Given the description of an element on the screen output the (x, y) to click on. 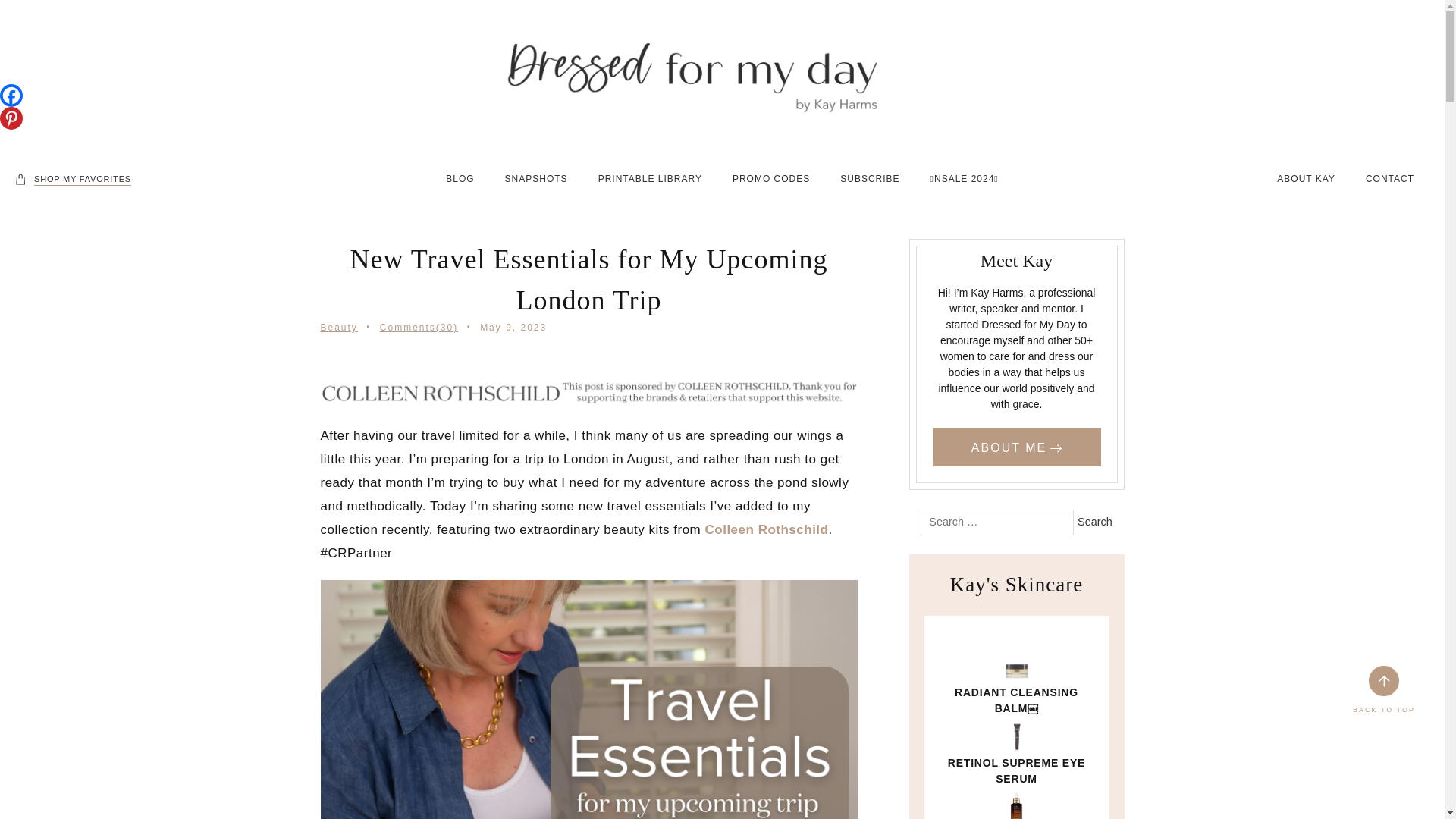
SHOP MY FAVORITES (72, 179)
Pinterest (11, 118)
Search (1094, 521)
Facebook (11, 95)
BLOG (459, 178)
Search (1094, 521)
